Given the description of an element on the screen output the (x, y) to click on. 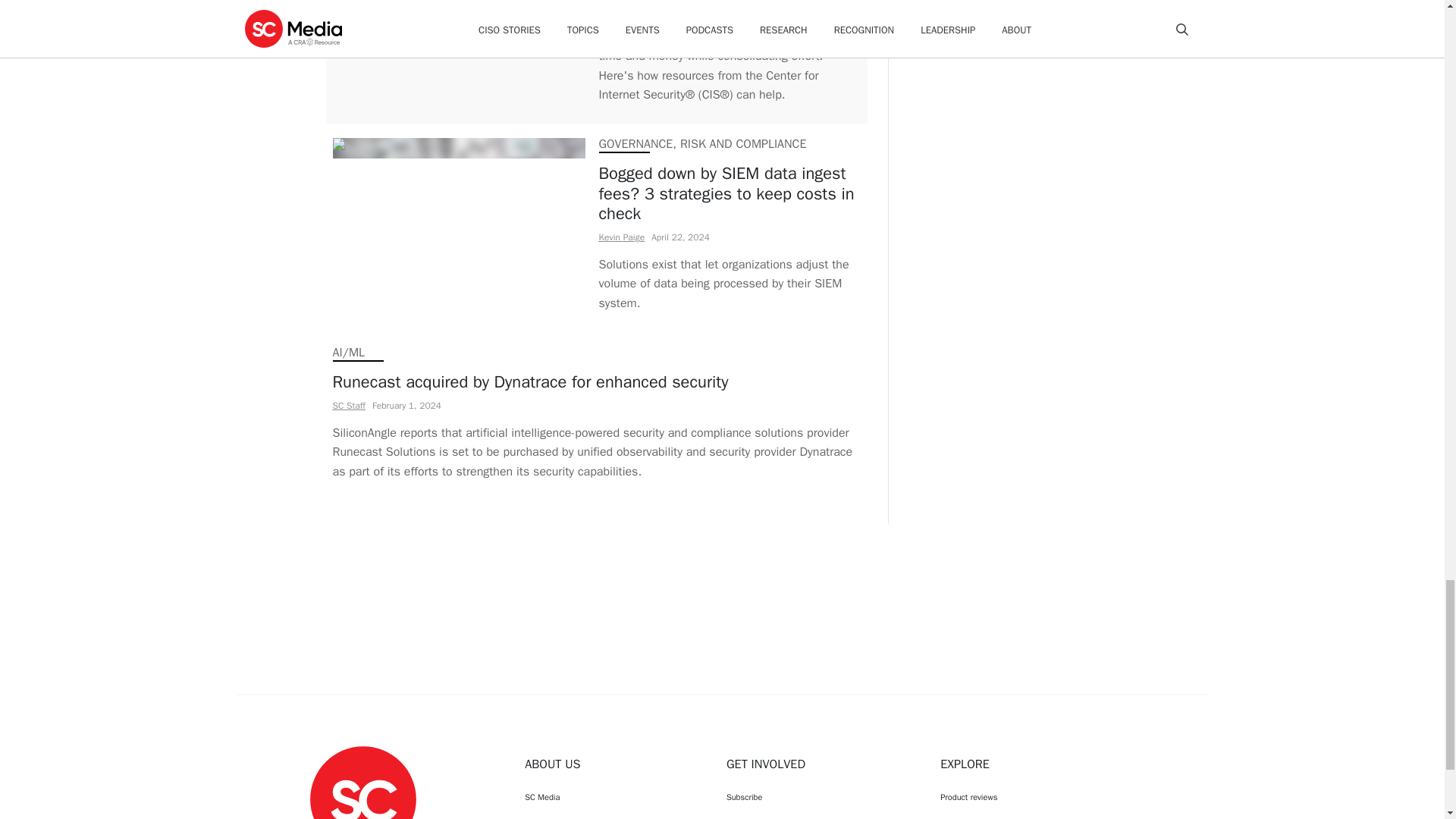
SC Staff (348, 405)
Kevin Paige (621, 236)
GOVERNANCE, RISK AND COMPLIANCE (702, 143)
SC Media (362, 798)
Runecast acquired by Dynatrace for enhanced security (595, 382)
